Given the description of an element on the screen output the (x, y) to click on. 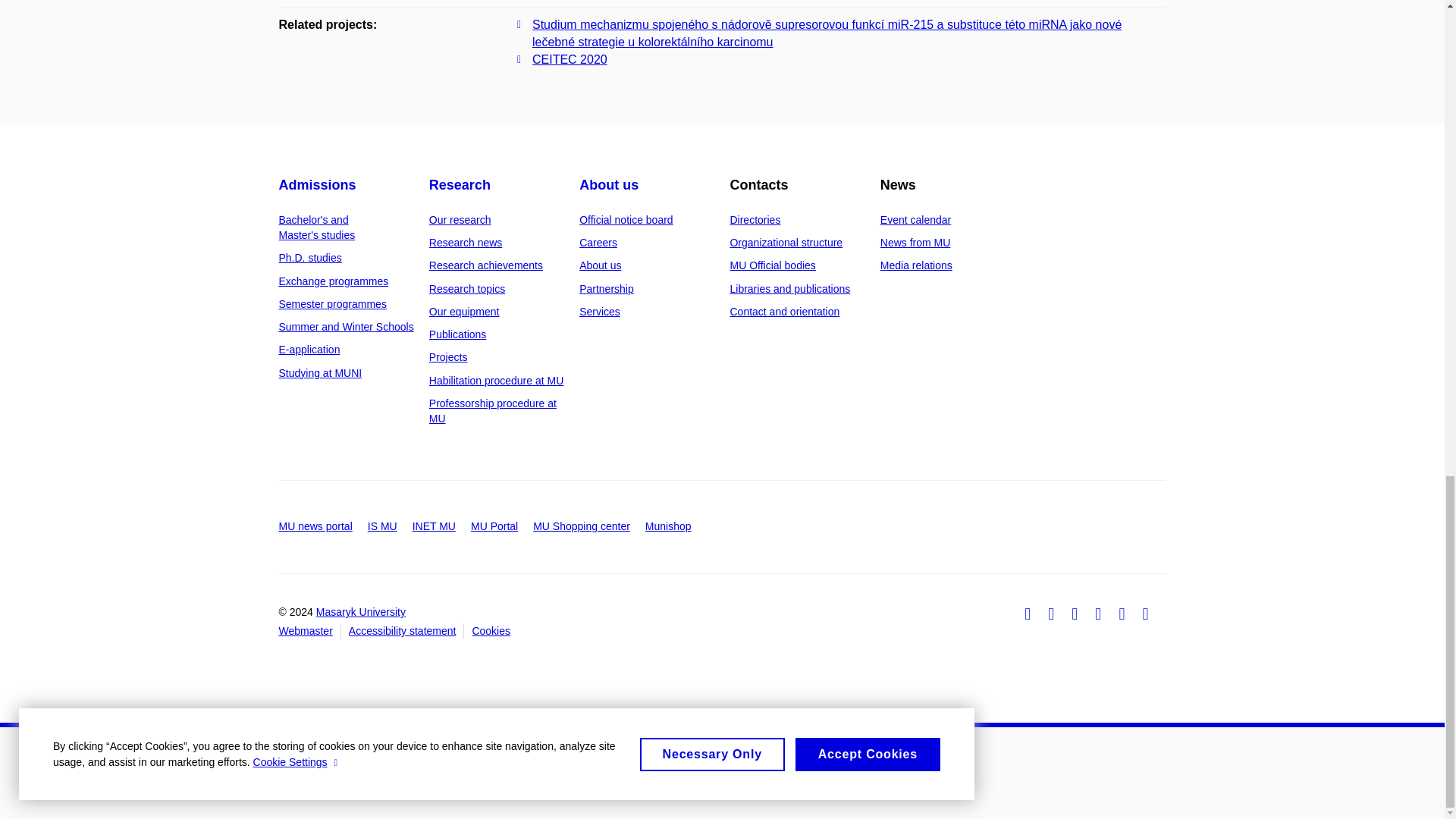
Publications (457, 334)
Admissions (317, 184)
Research topics (467, 288)
Our equipment (464, 311)
E-application (309, 349)
Our research (460, 219)
Research news (465, 242)
Exchange programmes (333, 281)
Research achievements (486, 265)
Ph.D. studies (310, 257)
Research (459, 184)
Semester programmes (333, 304)
Studying at MUNI (320, 372)
Projects (448, 357)
